Given the description of an element on the screen output the (x, y) to click on. 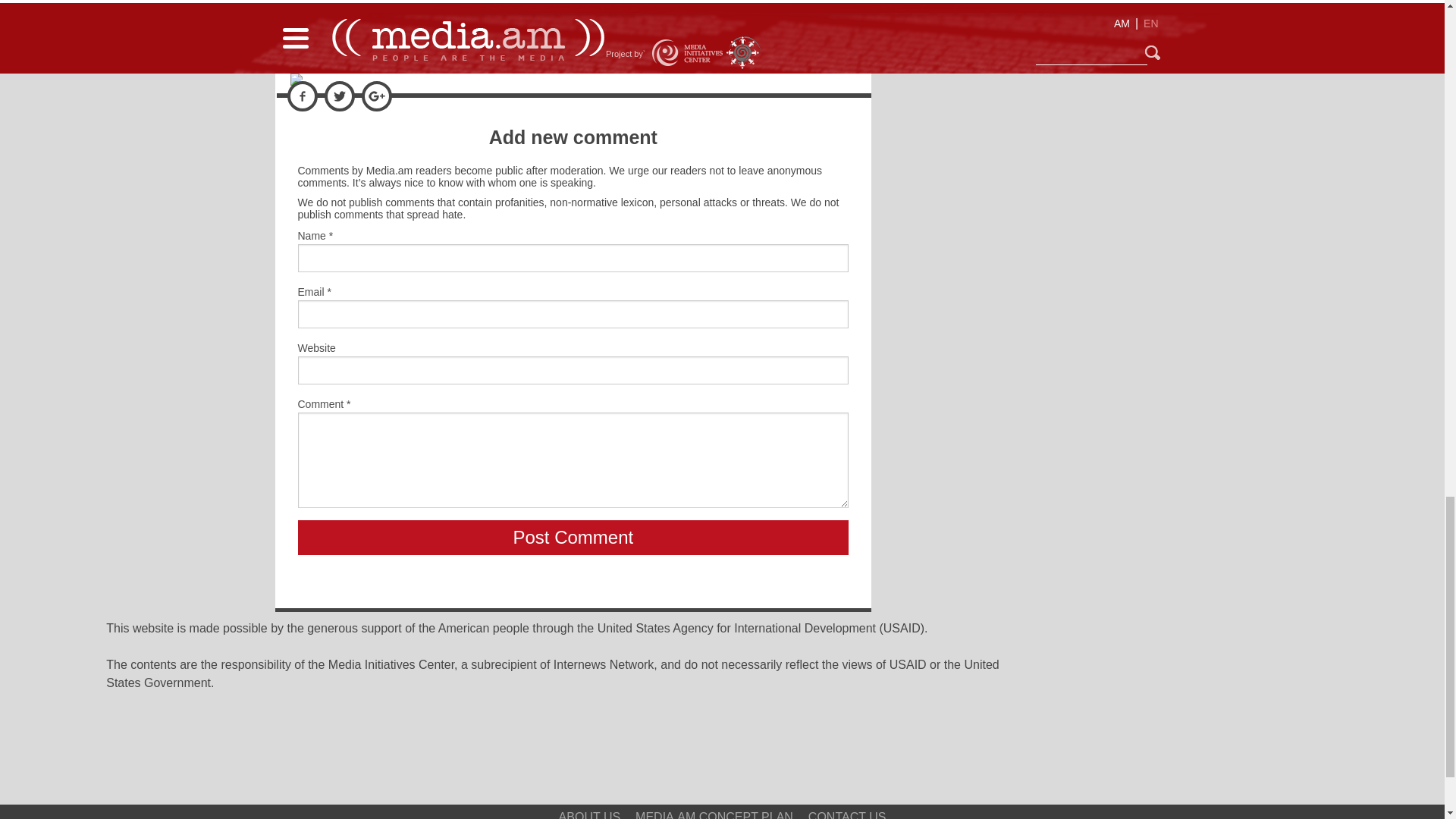
Post Comment (572, 537)
Post Comment (572, 537)
